Given the description of an element on the screen output the (x, y) to click on. 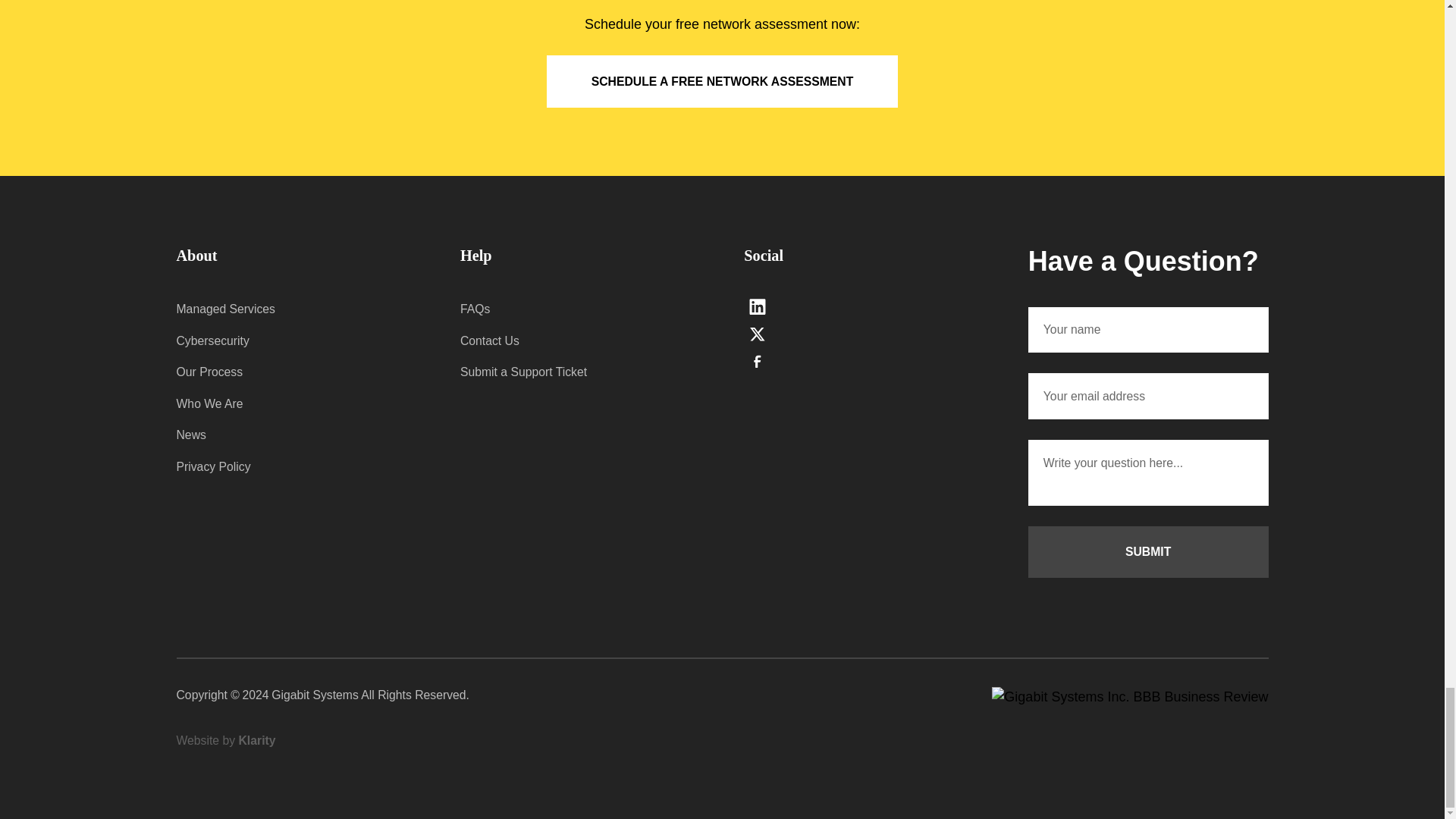
FAQs (580, 309)
Contact Us (580, 341)
Managed Services (296, 309)
Submit (1147, 551)
Our Process (296, 372)
Privacy Policy (296, 467)
Submit a Support Ticket (580, 372)
Website by Klarity (225, 741)
News (296, 435)
Submit (1147, 551)
Who We Are (296, 404)
SCHEDULE A FREE NETWORK ASSESSMENT (722, 81)
Cybersecurity (296, 341)
